Given the description of an element on the screen output the (x, y) to click on. 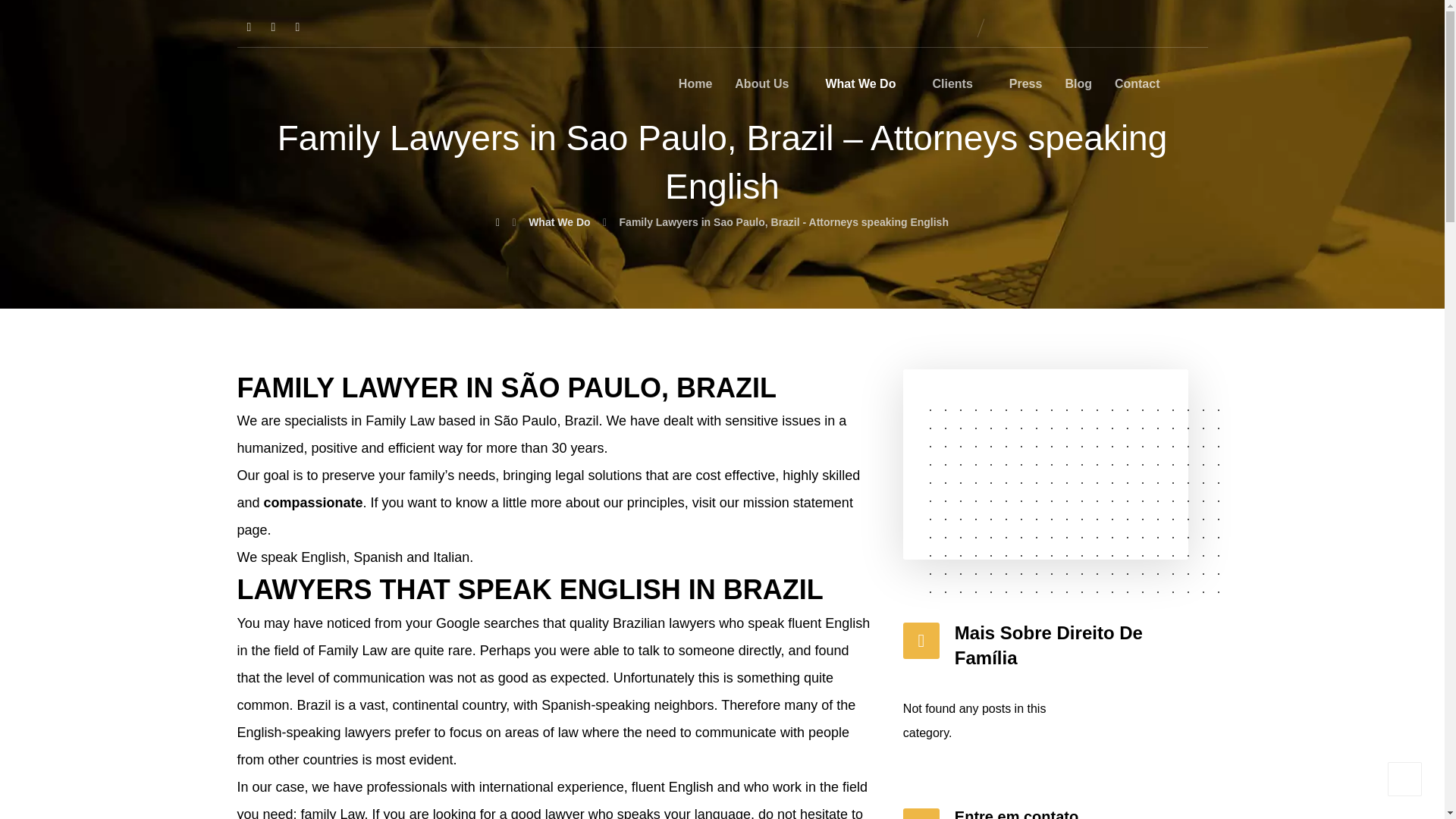
Linkedin (272, 27)
Clients (958, 89)
Facebook (247, 27)
About Us (768, 89)
direitos-familia (1045, 464)
Press (1025, 89)
Home (694, 89)
Contact (1137, 89)
Instagram (296, 27)
What We Do (866, 89)
